Given the description of an element on the screen output the (x, y) to click on. 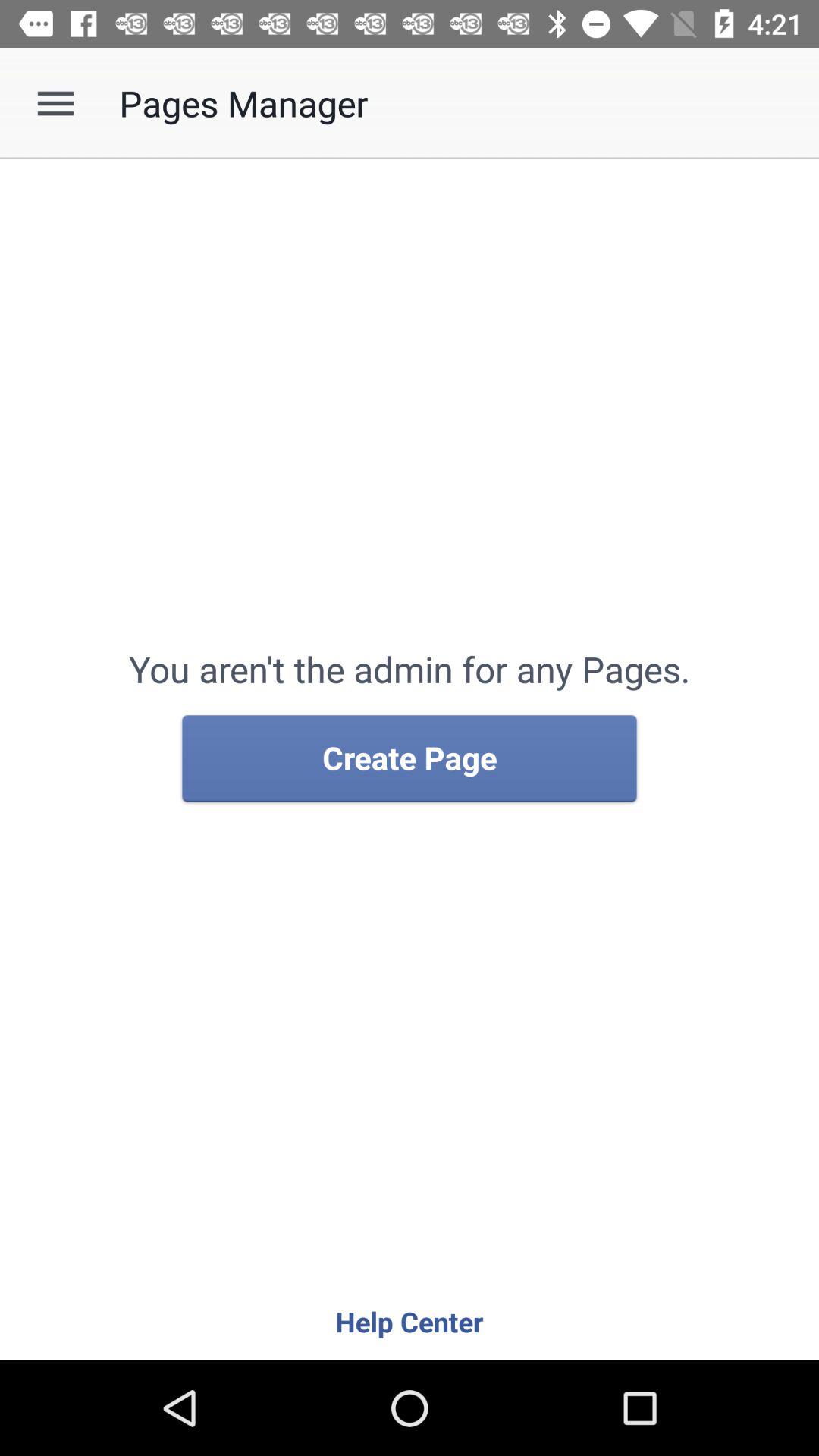
click help center icon (409, 1321)
